Given the description of an element on the screen output the (x, y) to click on. 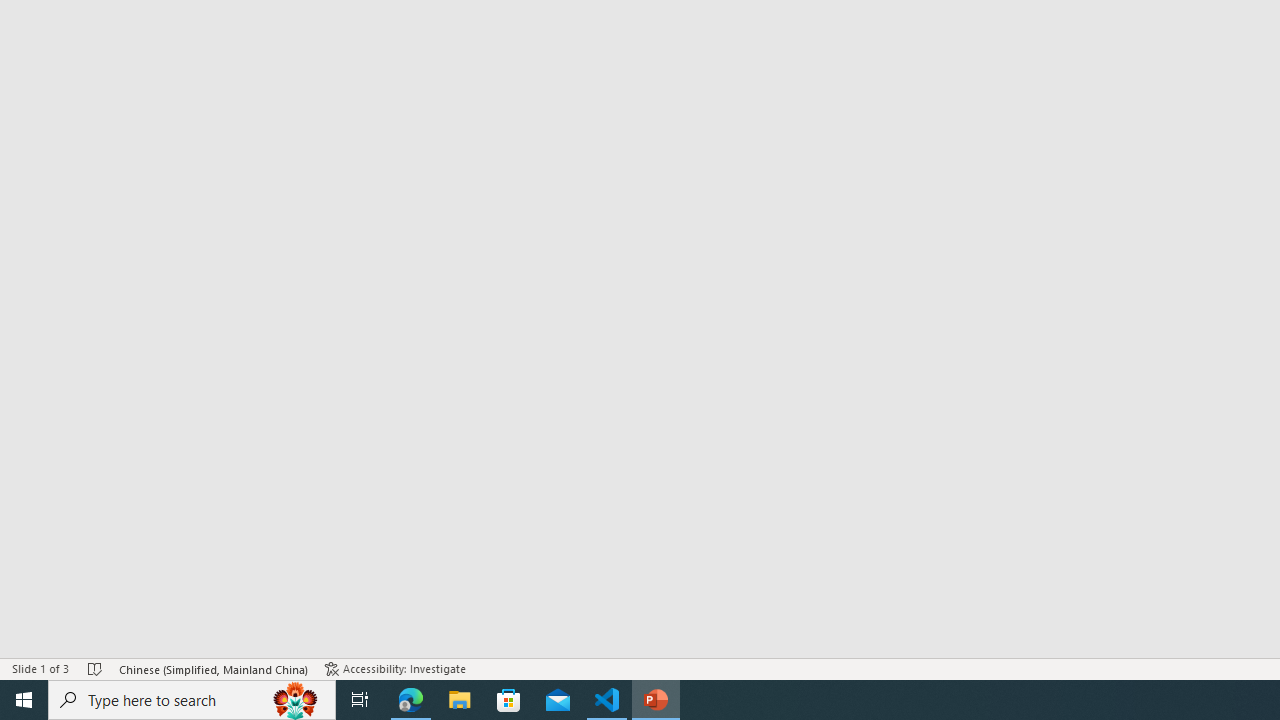
Accessibility Checker Accessibility: Investigate (395, 668)
Spell Check No Errors (95, 668)
